Given the description of an element on the screen output the (x, y) to click on. 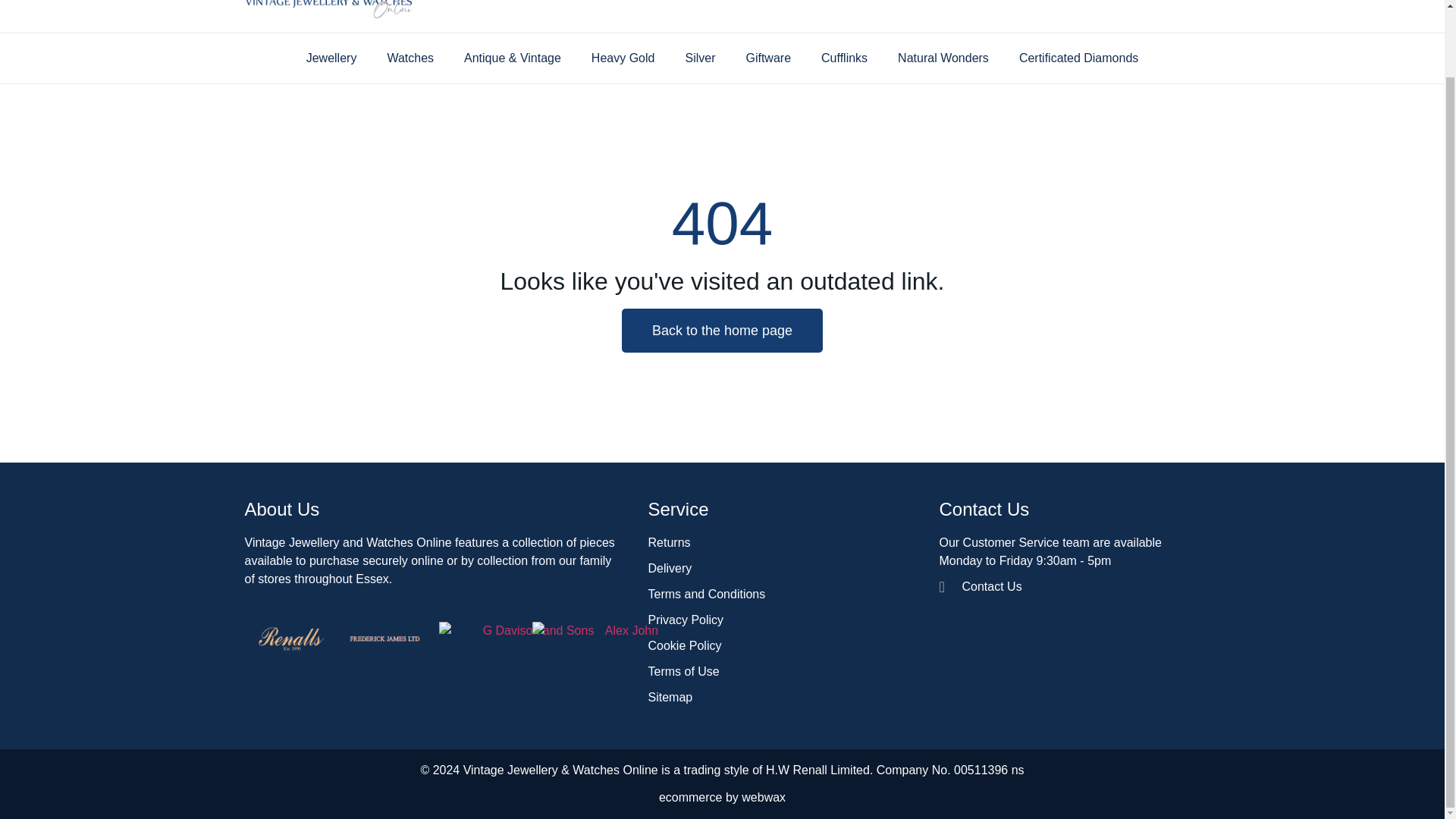
Jewellery (331, 58)
Heavy Gold (622, 58)
Watches (409, 58)
Silver (699, 58)
e-commerce (690, 797)
